Given the description of an element on the screen output the (x, y) to click on. 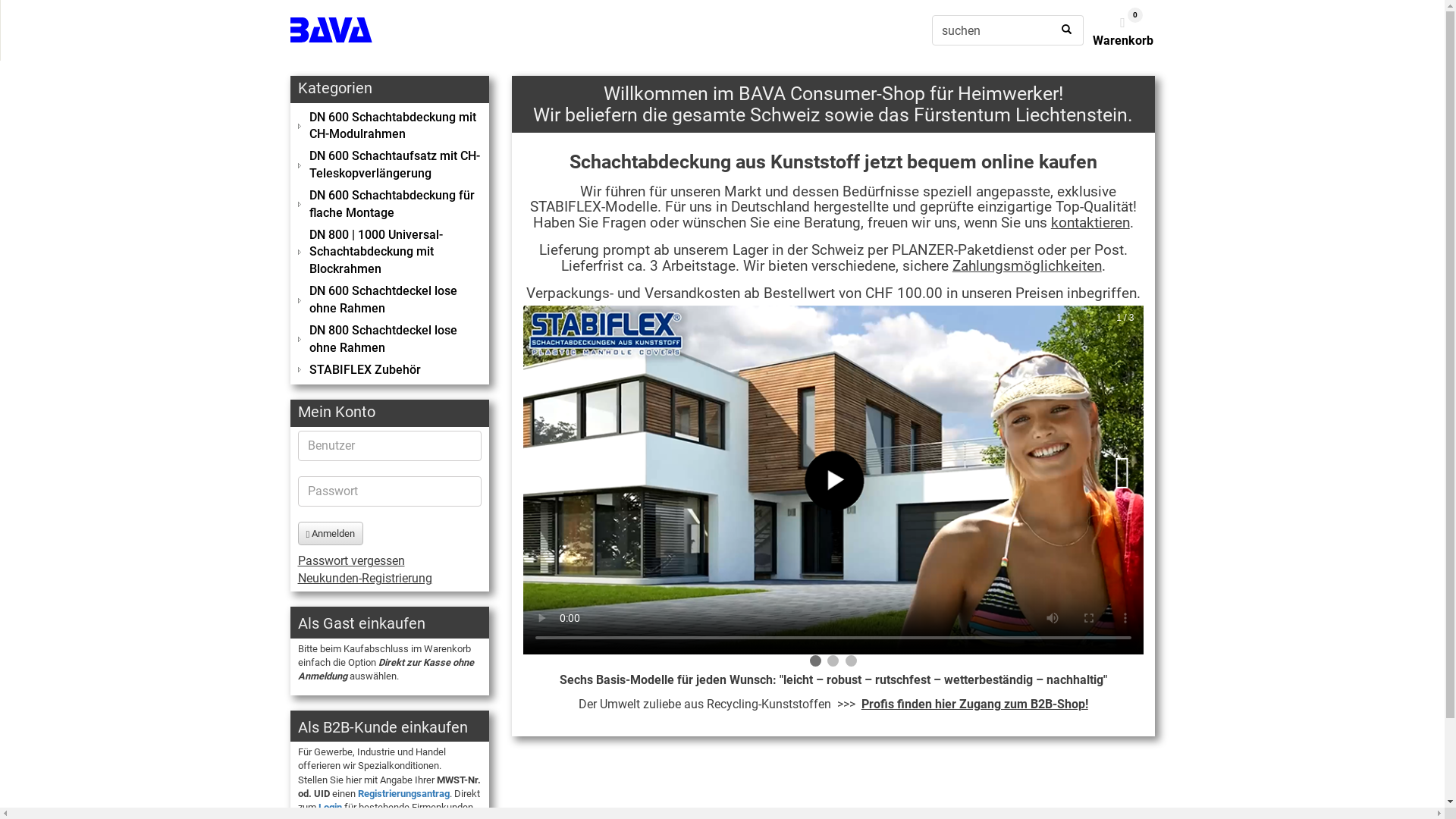
Warenkorb Element type: text (1122, 41)
Registrierungsantrag Element type: text (403, 793)
DN 600 Schachtdeckel lose ohne Rahmen Element type: text (389, 299)
0 Element type: text (1122, 23)
Passwort vergessen Element type: text (350, 560)
Anmelden Element type: text (330, 533)
DN 600 Schachtabdeckung mit CH-Modulrahmen Element type: text (389, 126)
DN 800 Schachtdeckel lose ohne Rahmen Element type: text (389, 339)
kontaktieren Element type: text (1090, 222)
Neukunden-Registrierung Element type: text (364, 578)
Profis finden hier Zugang zum B2B-Shop! Element type: text (974, 703)
Login Element type: text (330, 806)
DN 800 | 1000 Universal-Schachtabdeckung mit Blockrahmen Element type: text (389, 252)
